Given the description of an element on the screen output the (x, y) to click on. 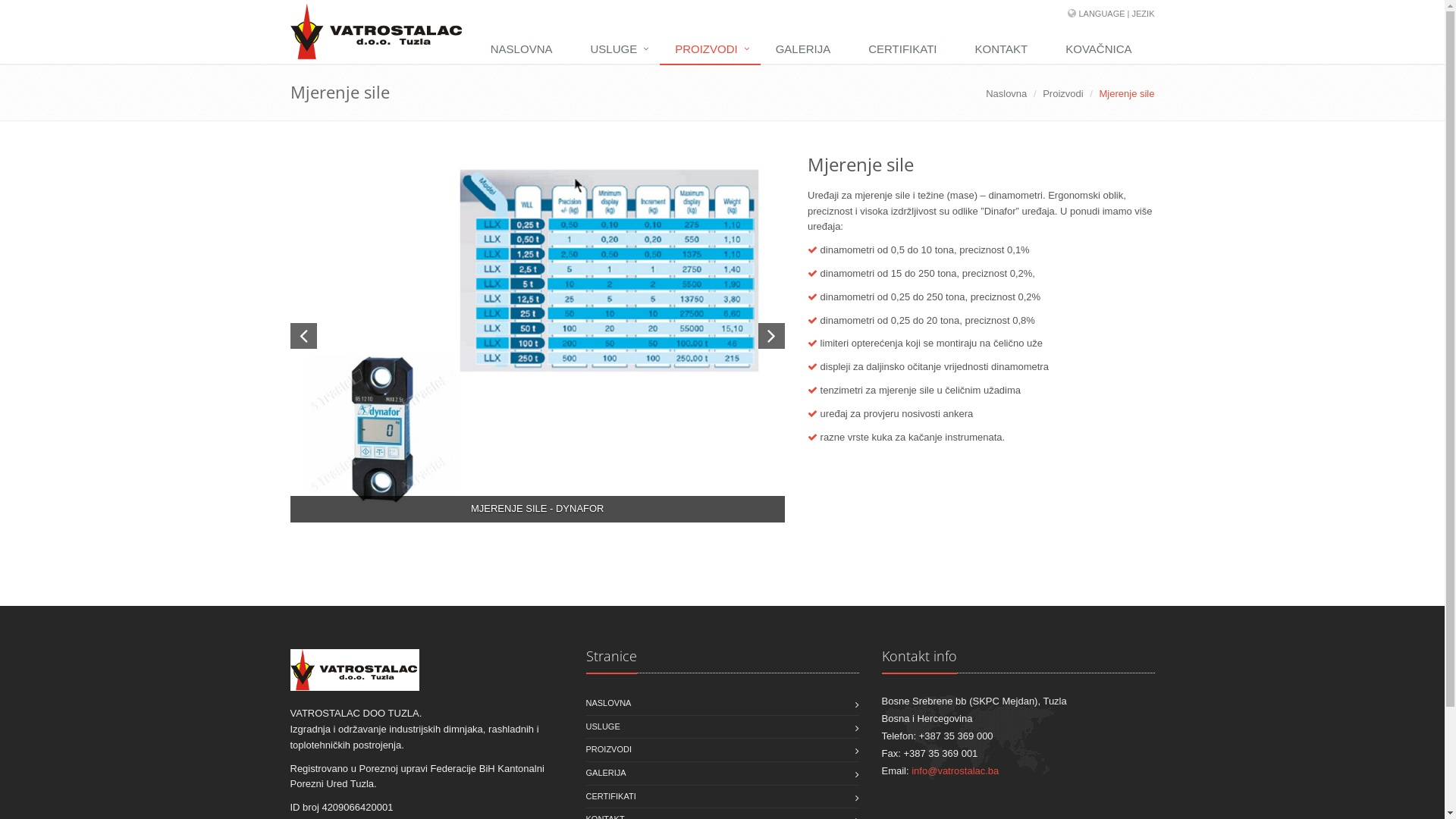
Naslovna Element type: text (1005, 93)
NASLOVNA Element type: text (525, 49)
USLUGE Element type: text (602, 726)
CERTIFIKATI Element type: text (610, 796)
Proizvodi Element type: text (1062, 93)
NASLOVNA Element type: text (607, 703)
GALERIJA Element type: text (806, 49)
PROIZVODI Element type: text (709, 49)
LANGUAGE | JEZIK Element type: text (1116, 13)
GALERIJA Element type: text (605, 773)
PROIZVODI Element type: text (608, 749)
KONTAKT Element type: text (1005, 49)
USLUGE Element type: text (616, 49)
info@vatrostalac.ba Element type: text (954, 770)
CERTIFIKATI Element type: text (906, 49)
